Given the description of an element on the screen output the (x, y) to click on. 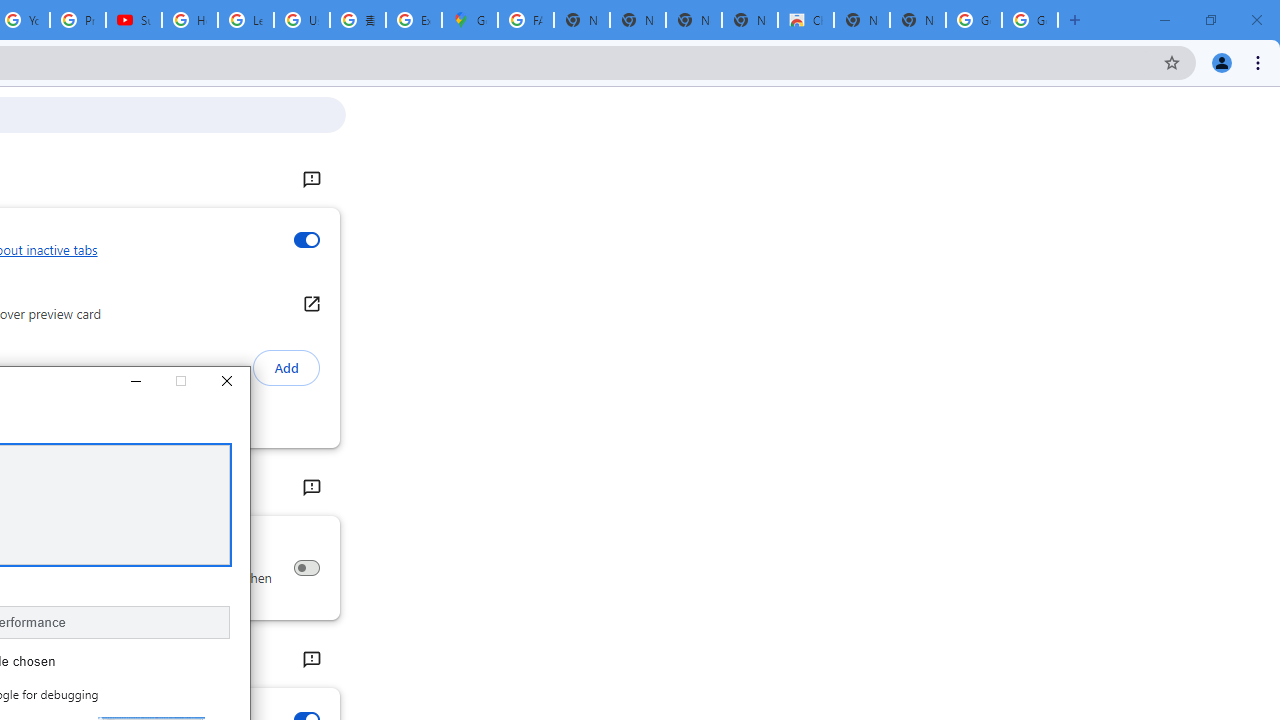
New Tab (917, 20)
General (310, 179)
Chrome Web Store (806, 20)
Google Images (1030, 20)
Memory Saver (306, 568)
How Chrome protects your passwords - Google Chrome Help (189, 20)
Maximize (180, 381)
Memory (310, 488)
Google Images (973, 20)
